Given the description of an element on the screen output the (x, y) to click on. 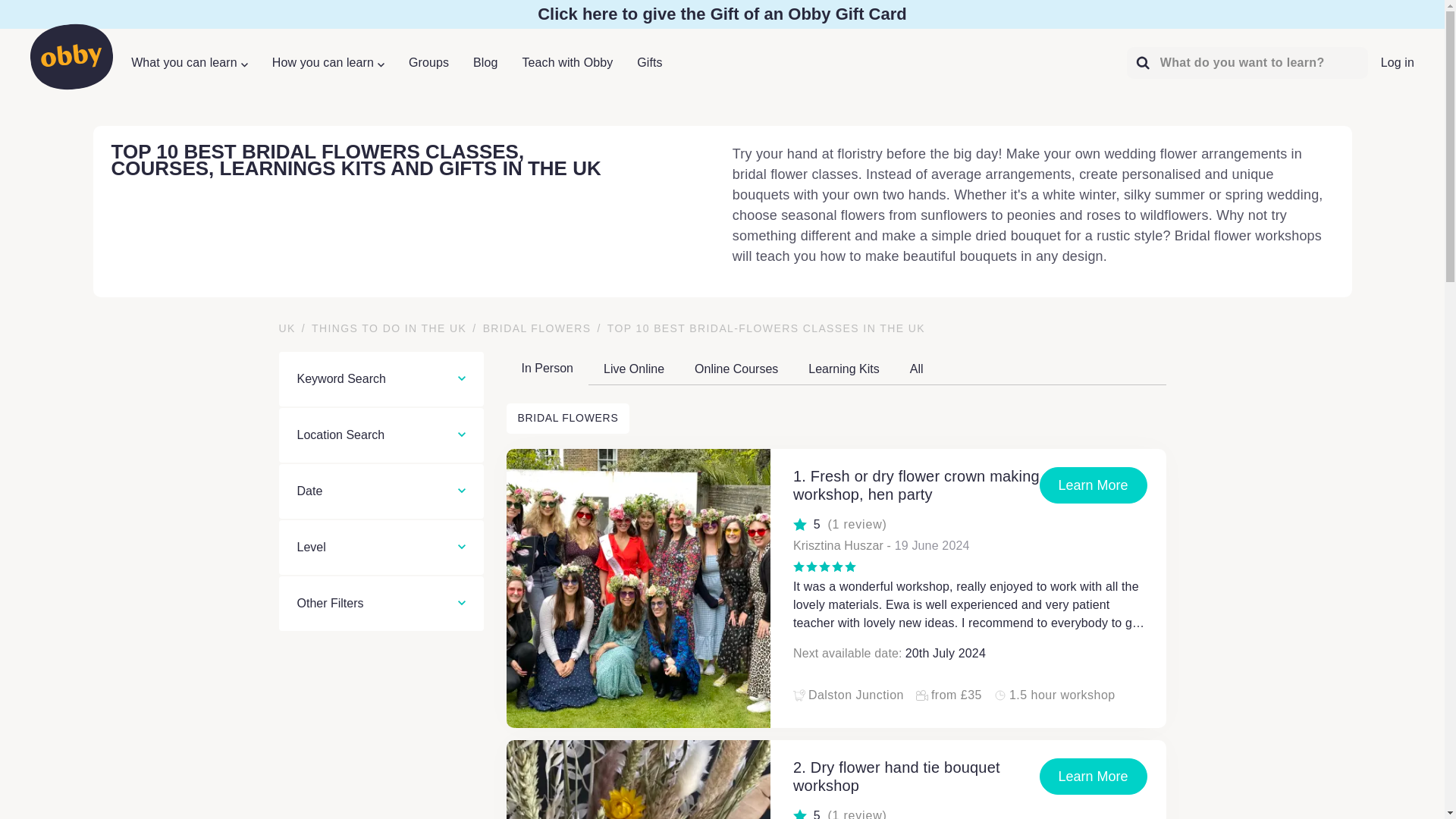
Teach with Obby (567, 62)
What you can learn (189, 62)
Learn More (1093, 484)
How you can learn (328, 62)
Click here to give the Gift of an Obby Gift Card (722, 13)
Learn More (1093, 776)
